Given the description of an element on the screen output the (x, y) to click on. 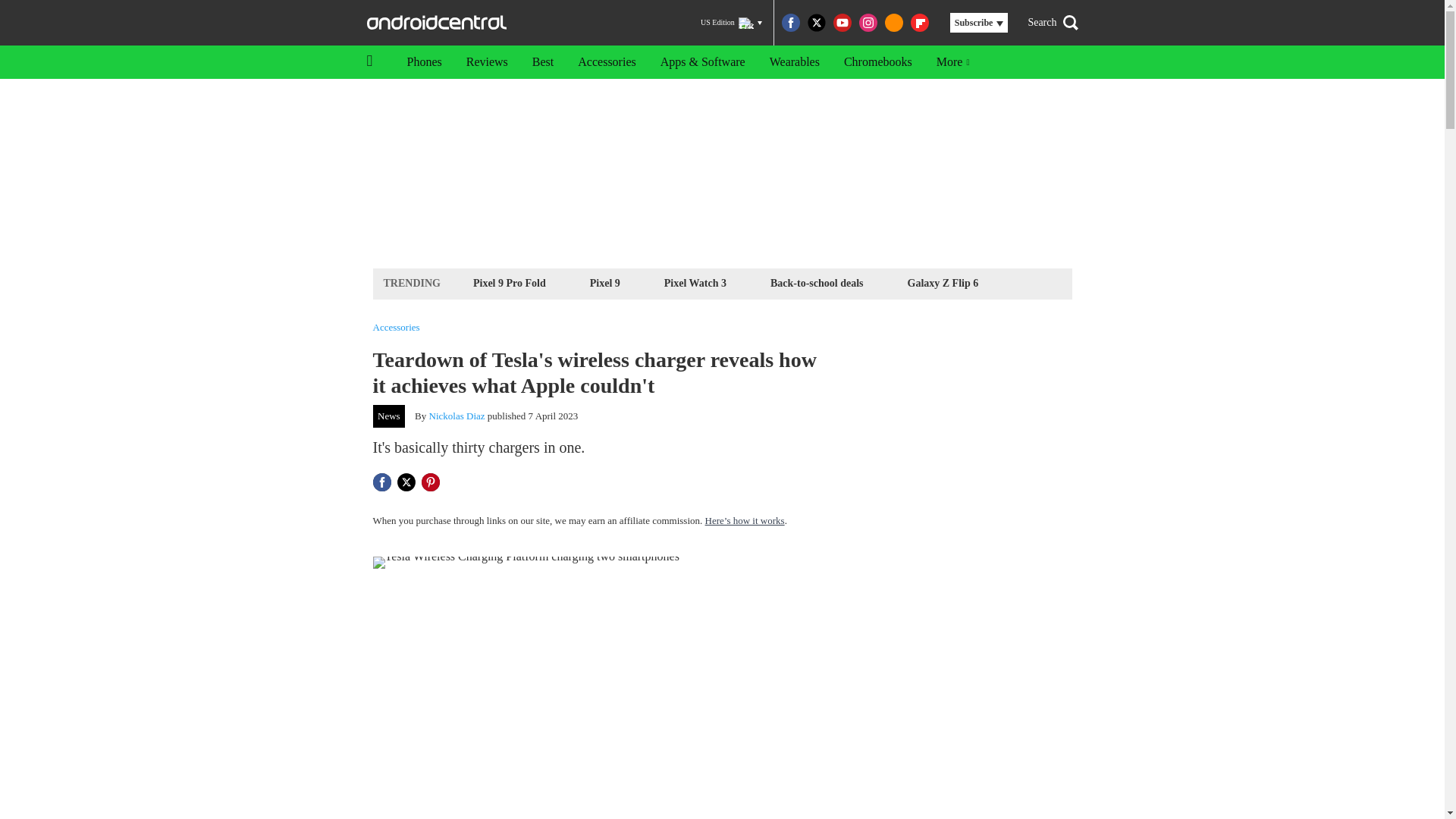
Pixel 9 (605, 282)
Phones (423, 61)
Galaxy Z Flip 6 (943, 282)
Accessories (606, 61)
Best (542, 61)
Pixel 9 Pro Fold (509, 282)
Nickolas Diaz (456, 415)
US Edition (731, 22)
Wearables (794, 61)
Pixel Watch 3 (695, 282)
